Given the description of an element on the screen output the (x, y) to click on. 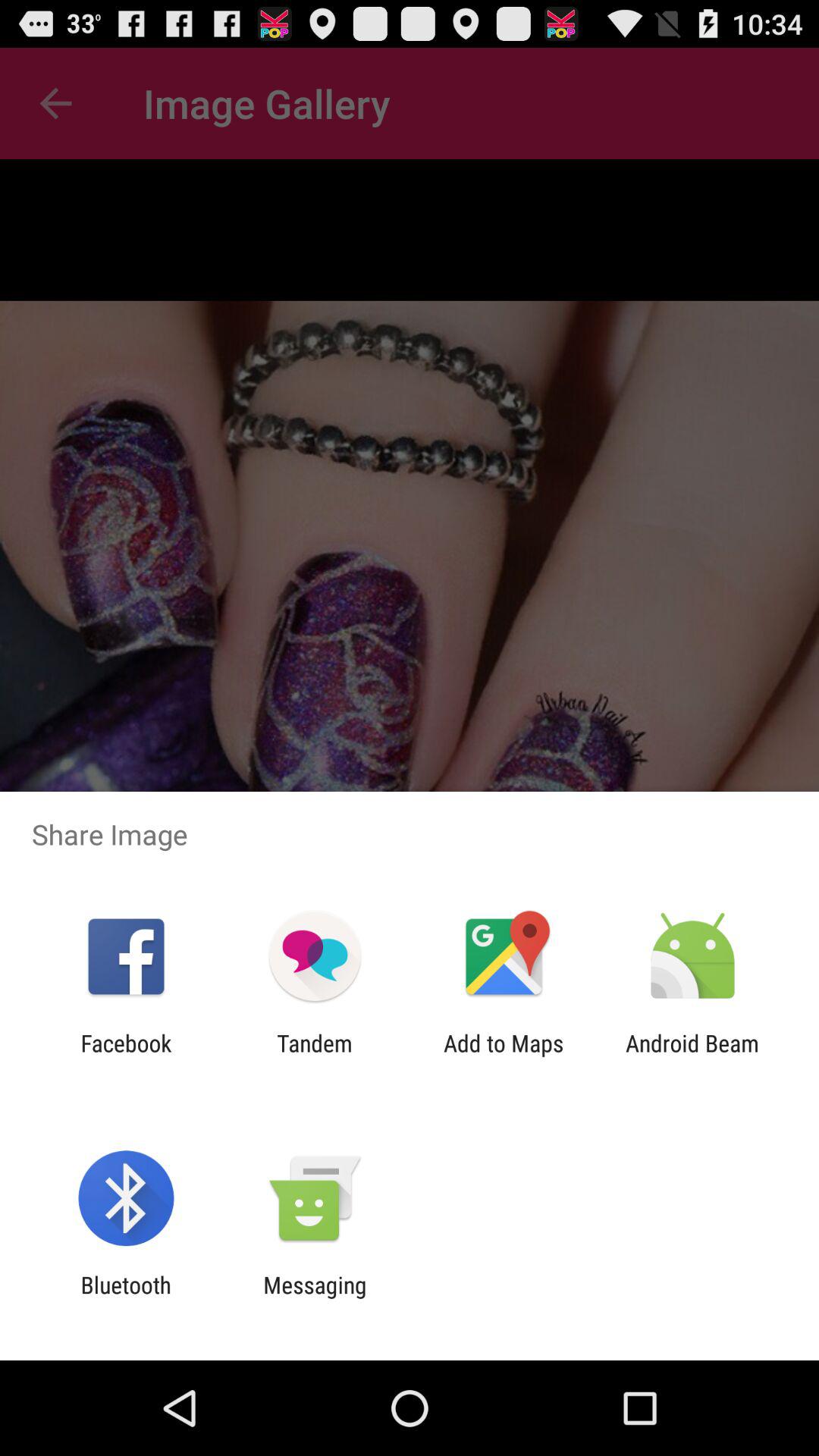
swipe to tandem item (314, 1056)
